Given the description of an element on the screen output the (x, y) to click on. 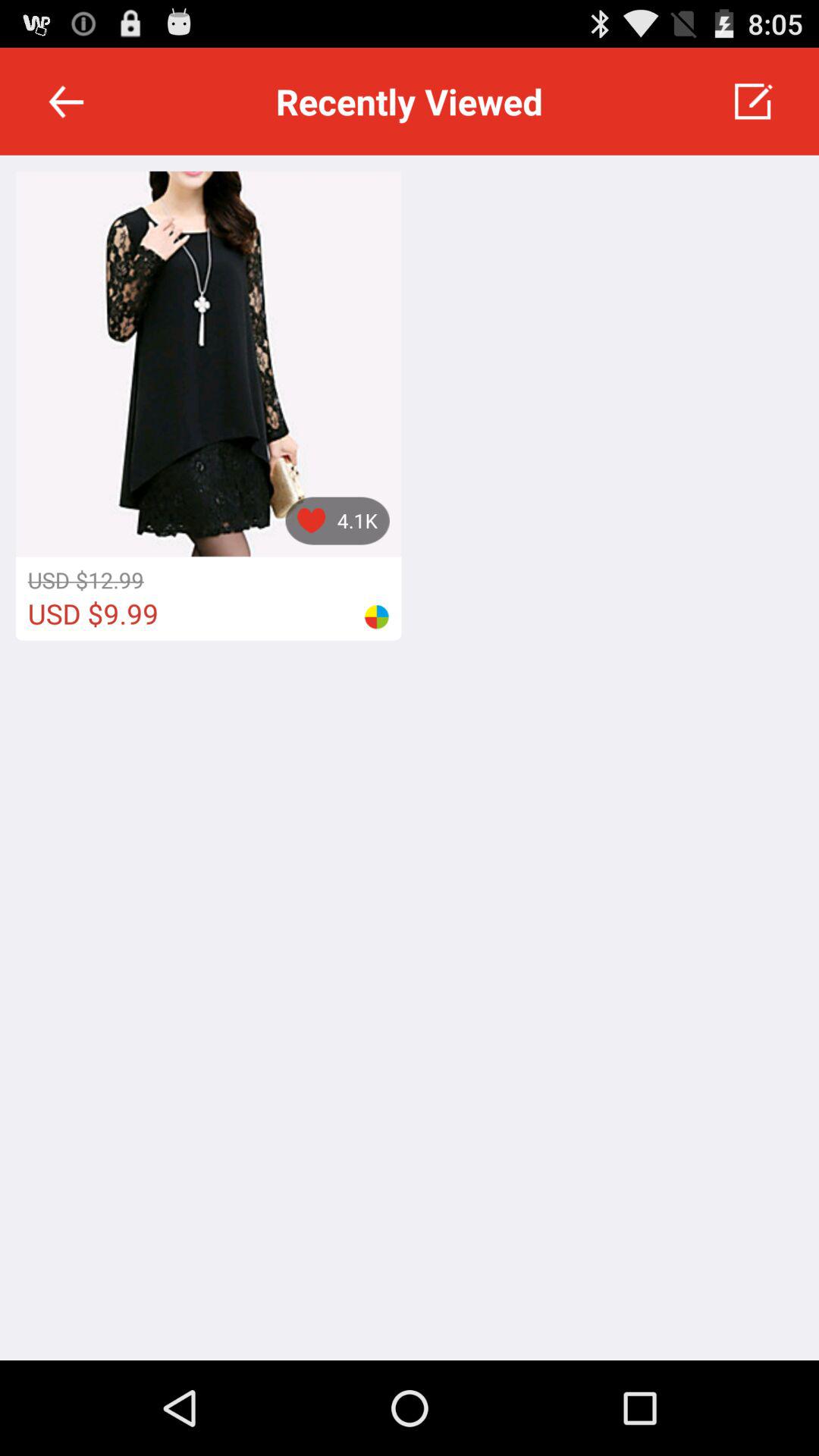
turn on item next to the recently viewed (752, 101)
